Given the description of an element on the screen output the (x, y) to click on. 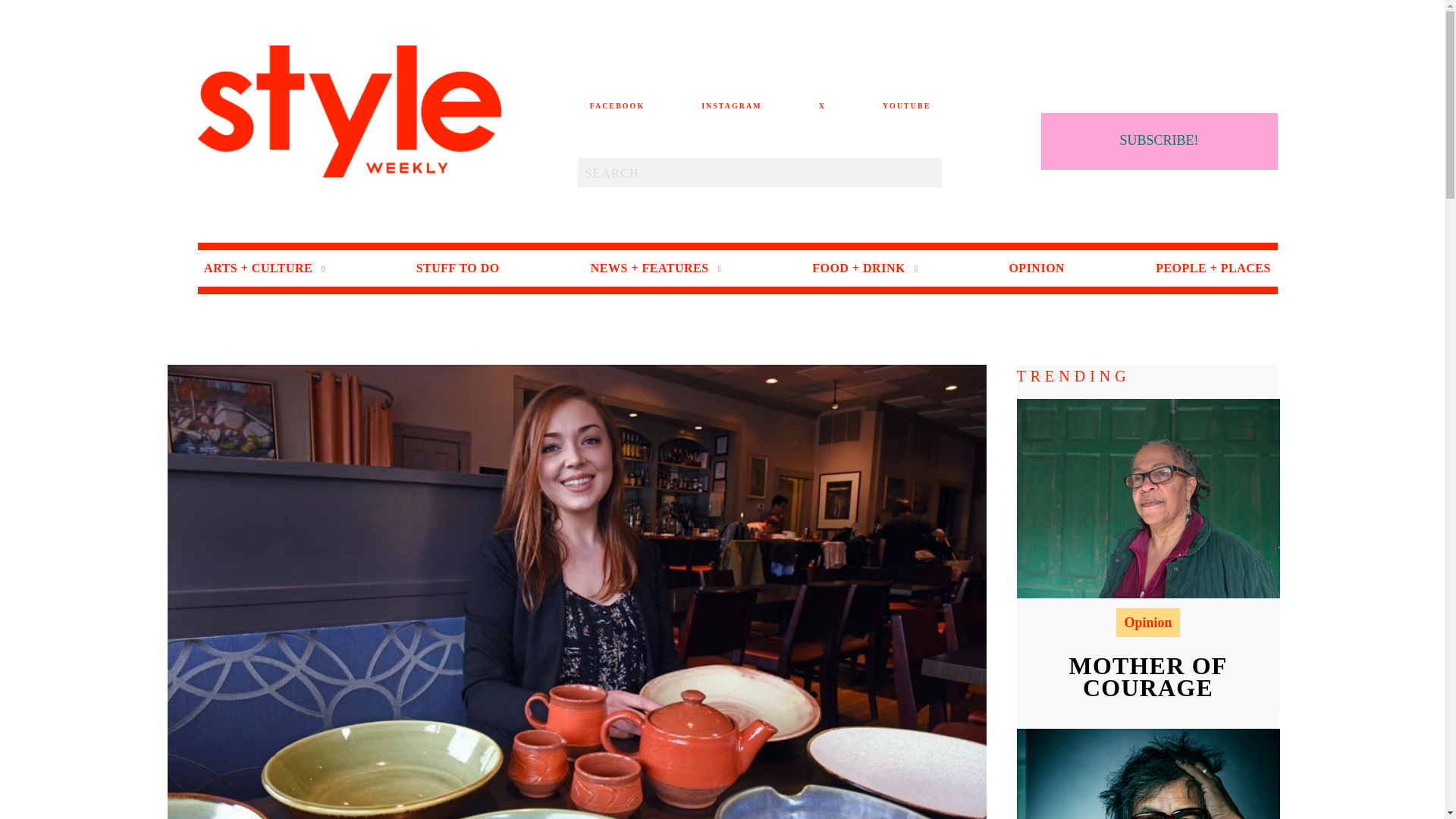
SUBSCRIBE! (1158, 141)
